Given the description of an element on the screen output the (x, y) to click on. 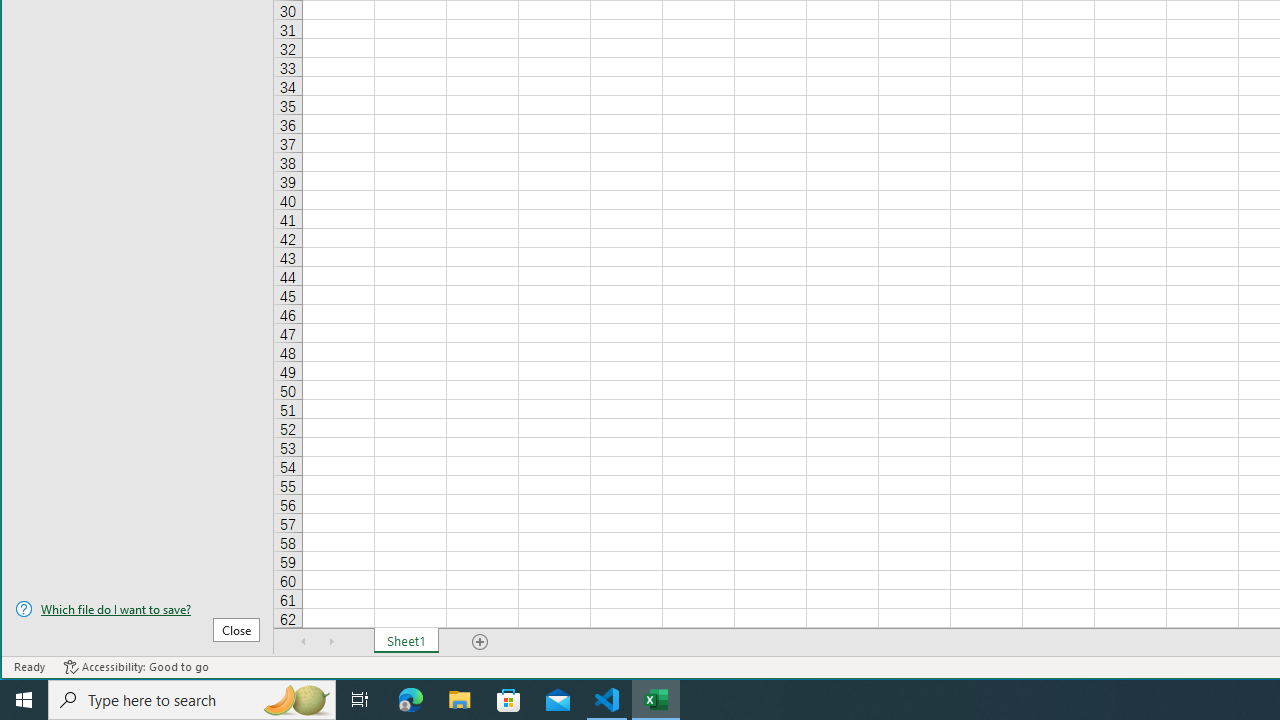
Start (24, 699)
Excel - 1 running window (656, 699)
Search highlights icon opens search home window (295, 699)
Type here to search (191, 699)
Task View (359, 699)
File Explorer (460, 699)
Visual Studio Code - 1 running window (607, 699)
Microsoft Edge (411, 699)
